Given the description of an element on the screen output the (x, y) to click on. 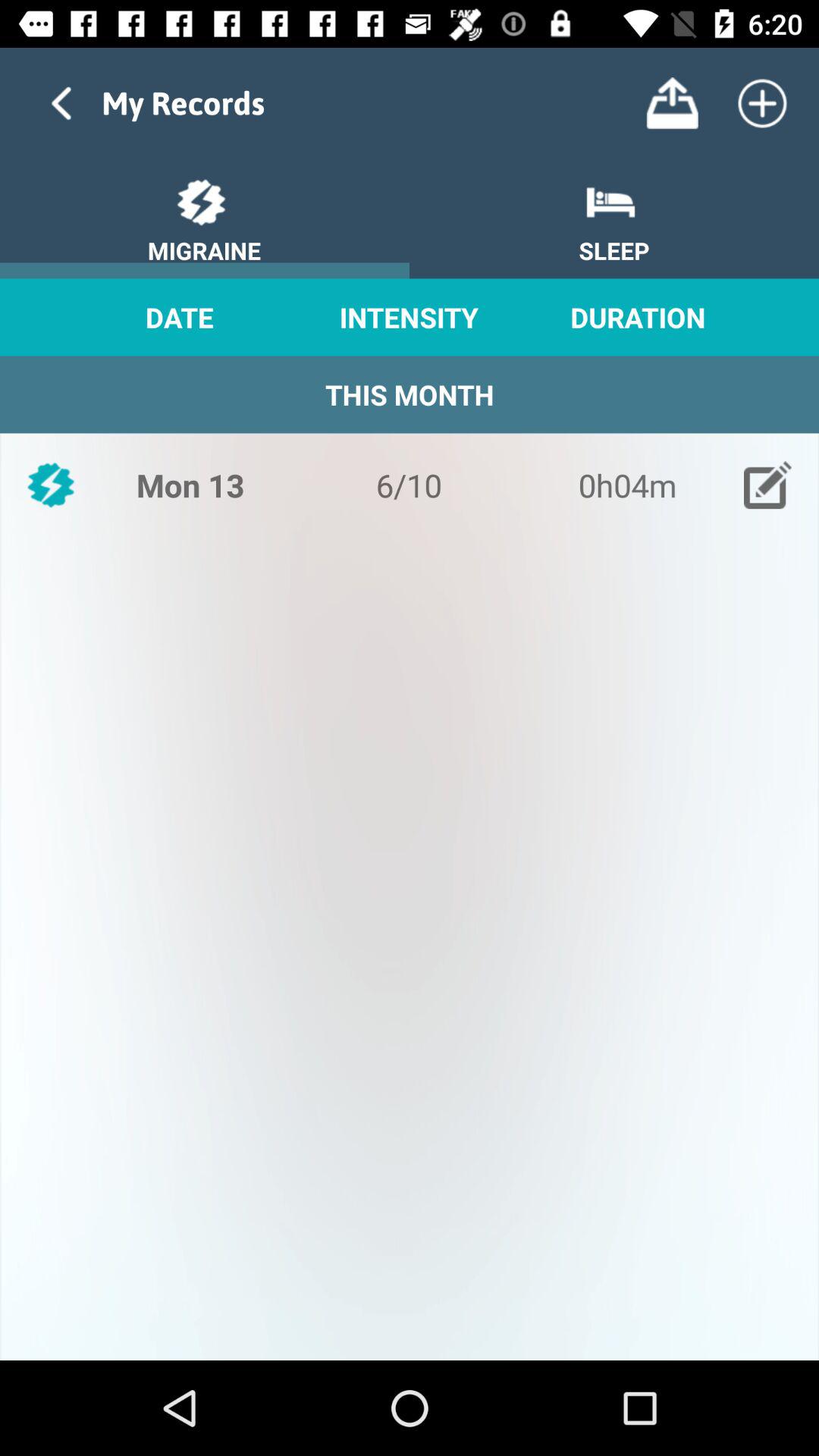
turn off the icon to the right of my records icon (672, 103)
